Given the description of an element on the screen output the (x, y) to click on. 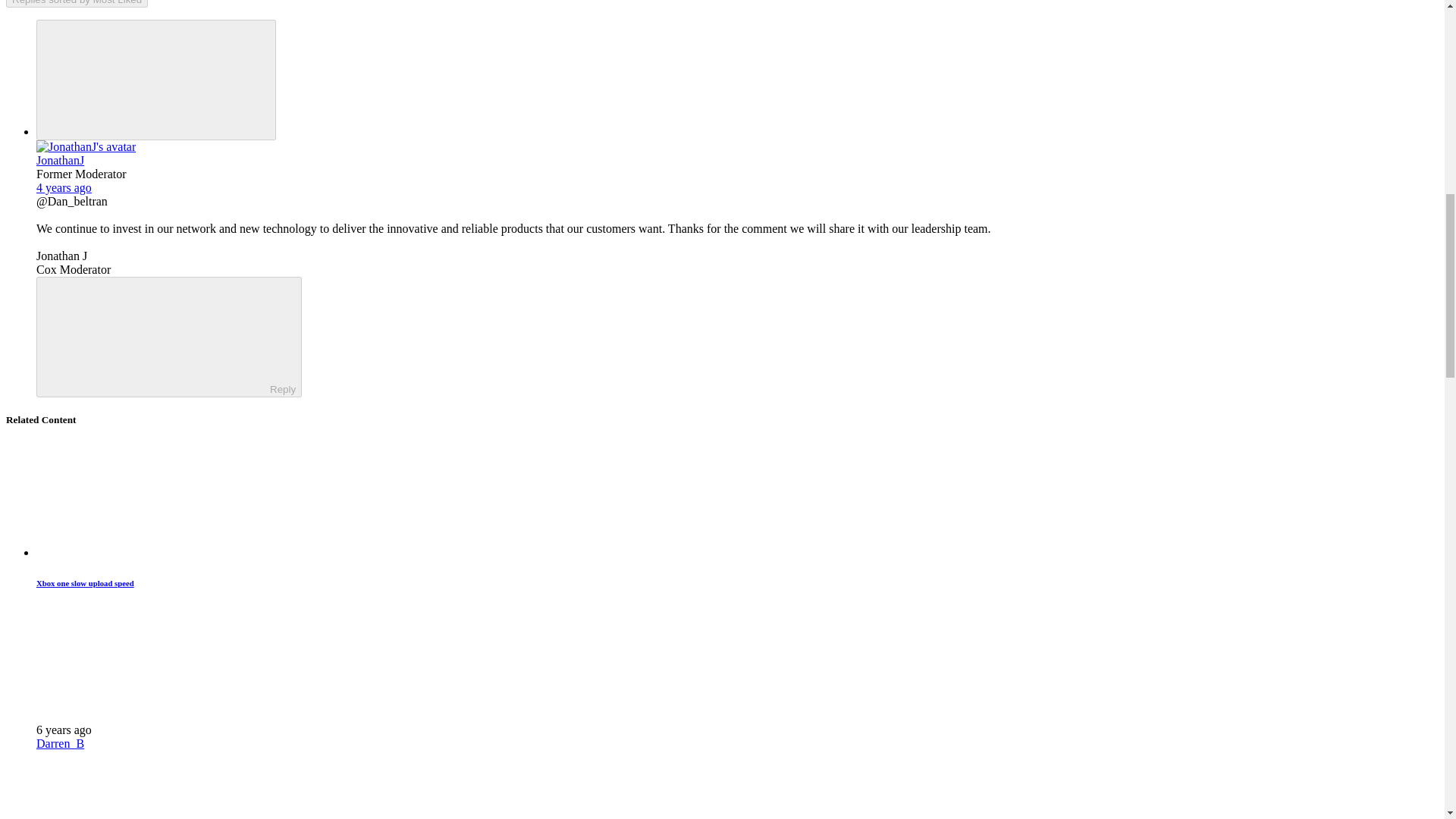
February 12, 2021 at 10:52 AM (63, 187)
Replies sorted by Most Liked (76, 3)
JonathanJ (60, 160)
November 21, 2018 at 10:08 PM (63, 729)
Reply (155, 336)
ReplyReply (168, 336)
4 years ago (63, 187)
Xbox one slow upload speed (84, 583)
